Given the description of an element on the screen output the (x, y) to click on. 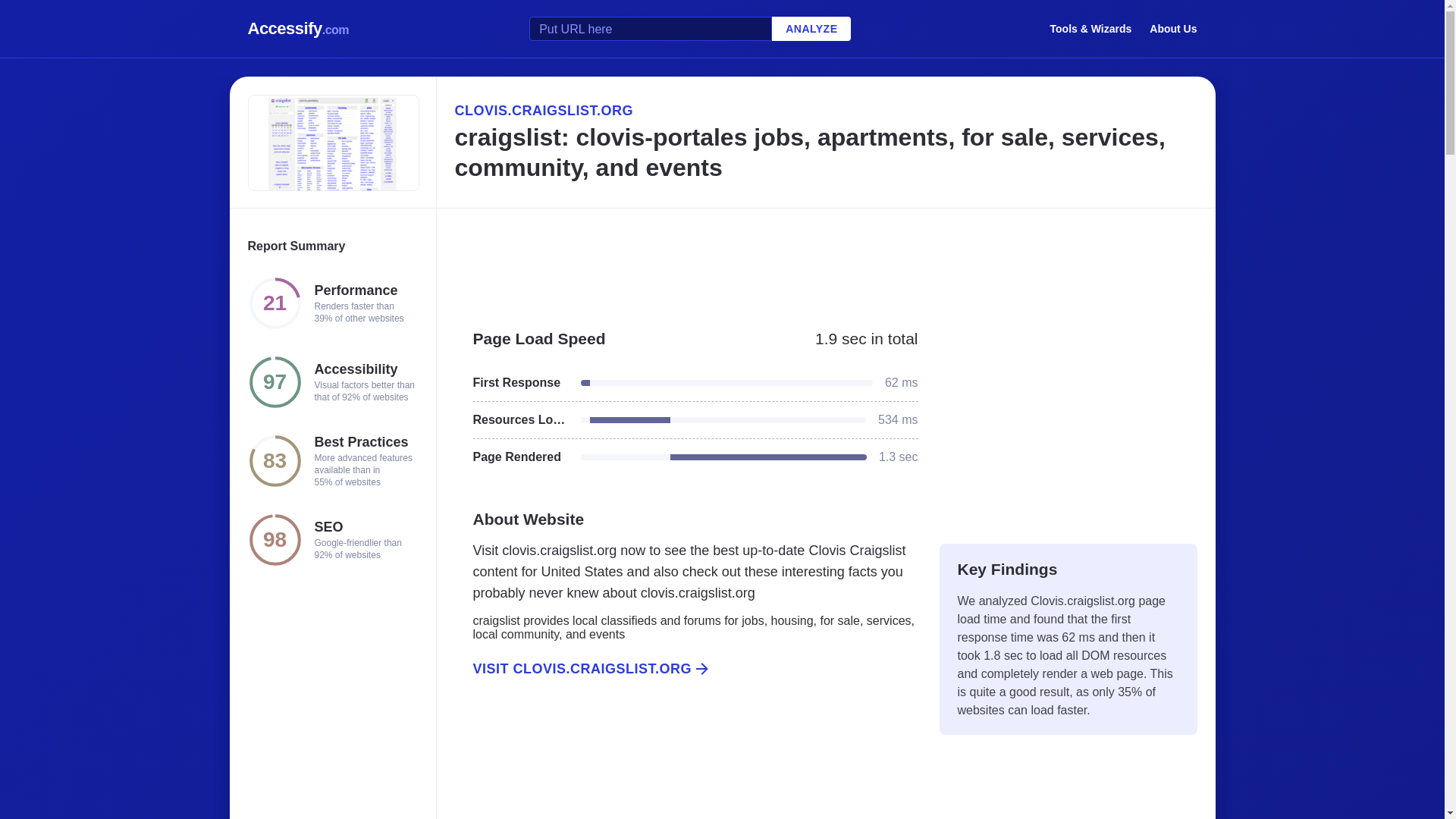
About Us (1173, 28)
VISIT CLOVIS.CRAIGSLIST.ORG (686, 669)
CLOVIS.CRAIGSLIST.ORG (825, 110)
Accessify.com (298, 28)
Advertisement (686, 765)
Advertisement (1067, 418)
Advertisement (825, 260)
ANALYZE (810, 28)
